Given the description of an element on the screen output the (x, y) to click on. 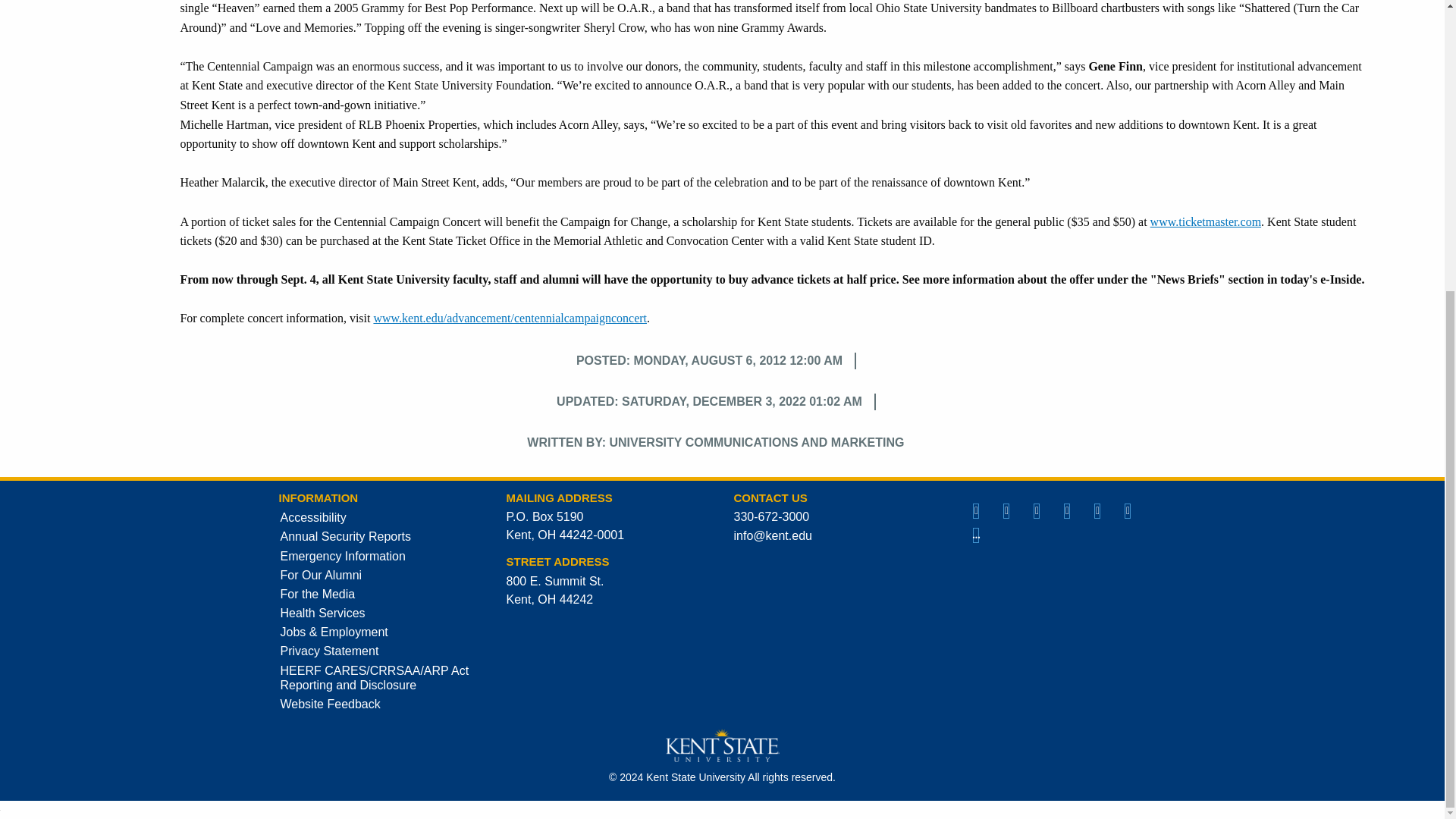
Kent State Kent Campus - Facebook (1037, 508)
Kent State Kent Campus - Facebook (1098, 508)
Kent State University logo (721, 745)
Kent State Kent Campus - Facebook (1067, 508)
Kent State Kent Campus - Facebook (975, 508)
Kent State Kent Campus - Facebook (1006, 508)
Kent State Kent Campus - Facebook (1127, 508)
